Given the description of an element on the screen output the (x, y) to click on. 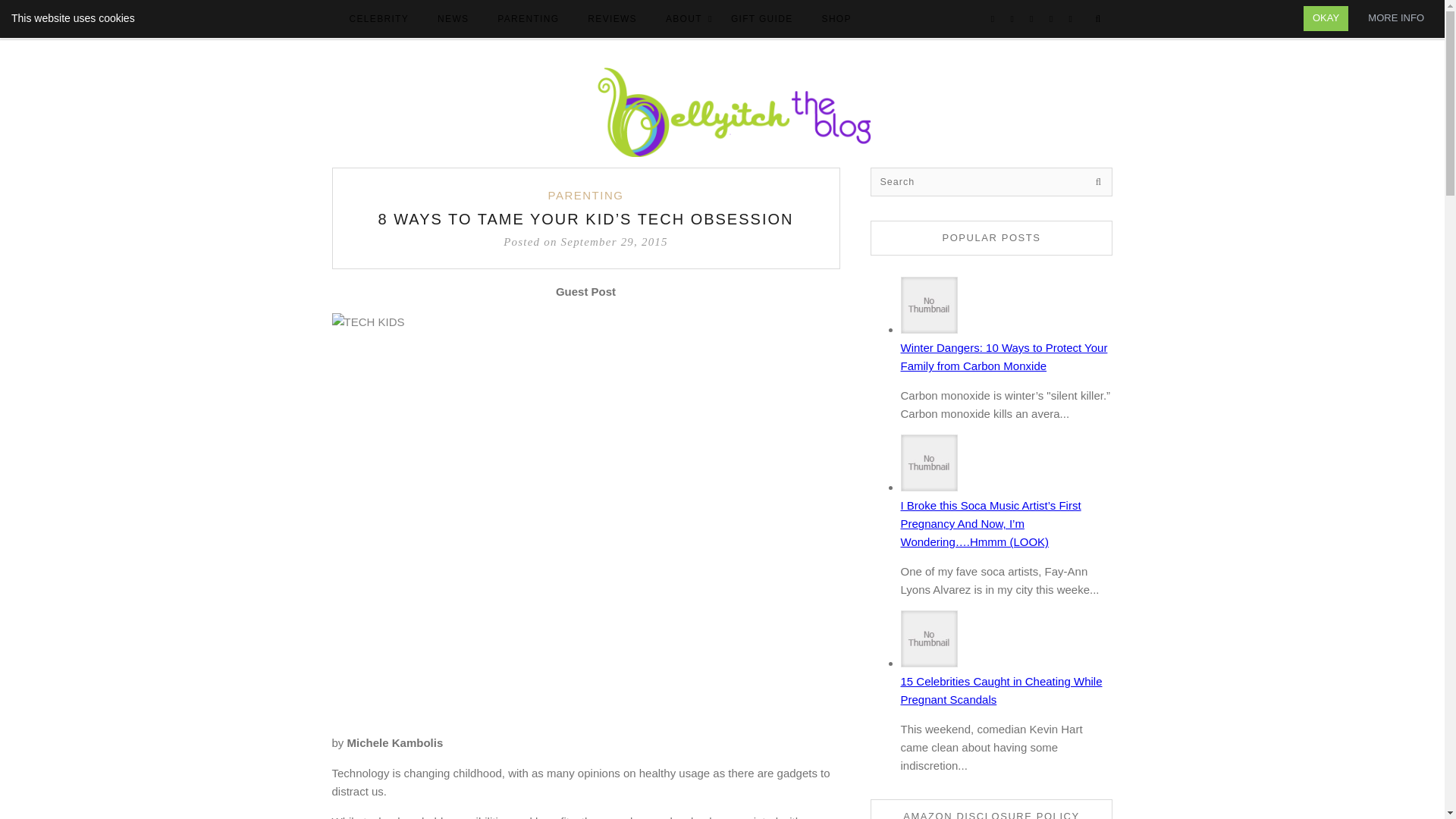
CELEBRITY (378, 19)
ABOUT (684, 19)
SHOP (836, 19)
2015-09-29 13:10:18 (585, 241)
GIFT GUIDE (761, 19)
PARENTING (586, 195)
NEWS (452, 19)
REVIEWS (611, 19)
PARENTING (527, 19)
